Given the description of an element on the screen output the (x, y) to click on. 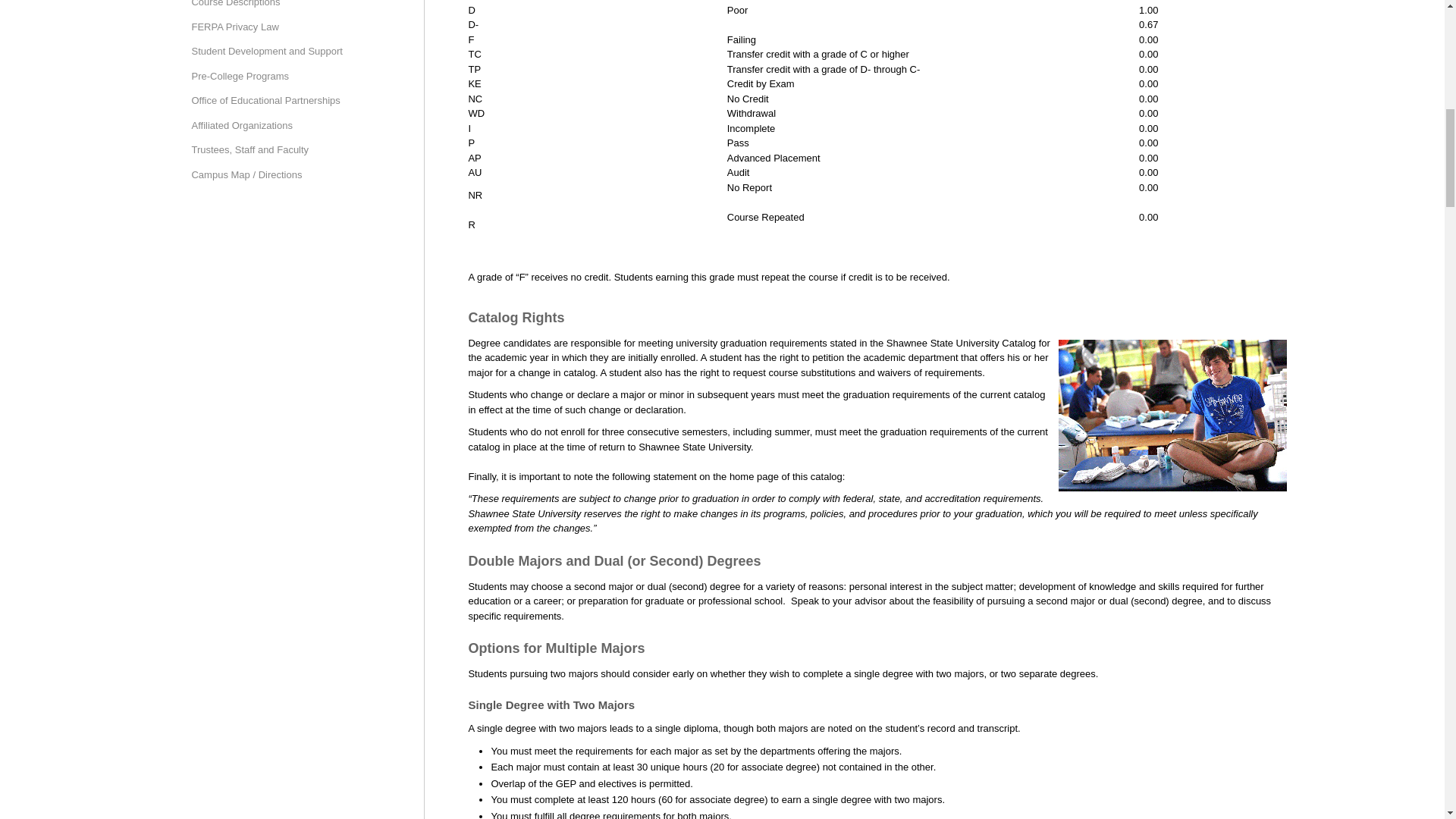
Course Descriptions (280, 7)
Trustees, Staff and Faculty (280, 150)
Pre-College Programs (280, 75)
Affiliated Organizations (280, 125)
FERPA Privacy Law (280, 26)
Student Development and Support (280, 51)
Office of Educational Partnerships (280, 100)
